Given the description of an element on the screen output the (x, y) to click on. 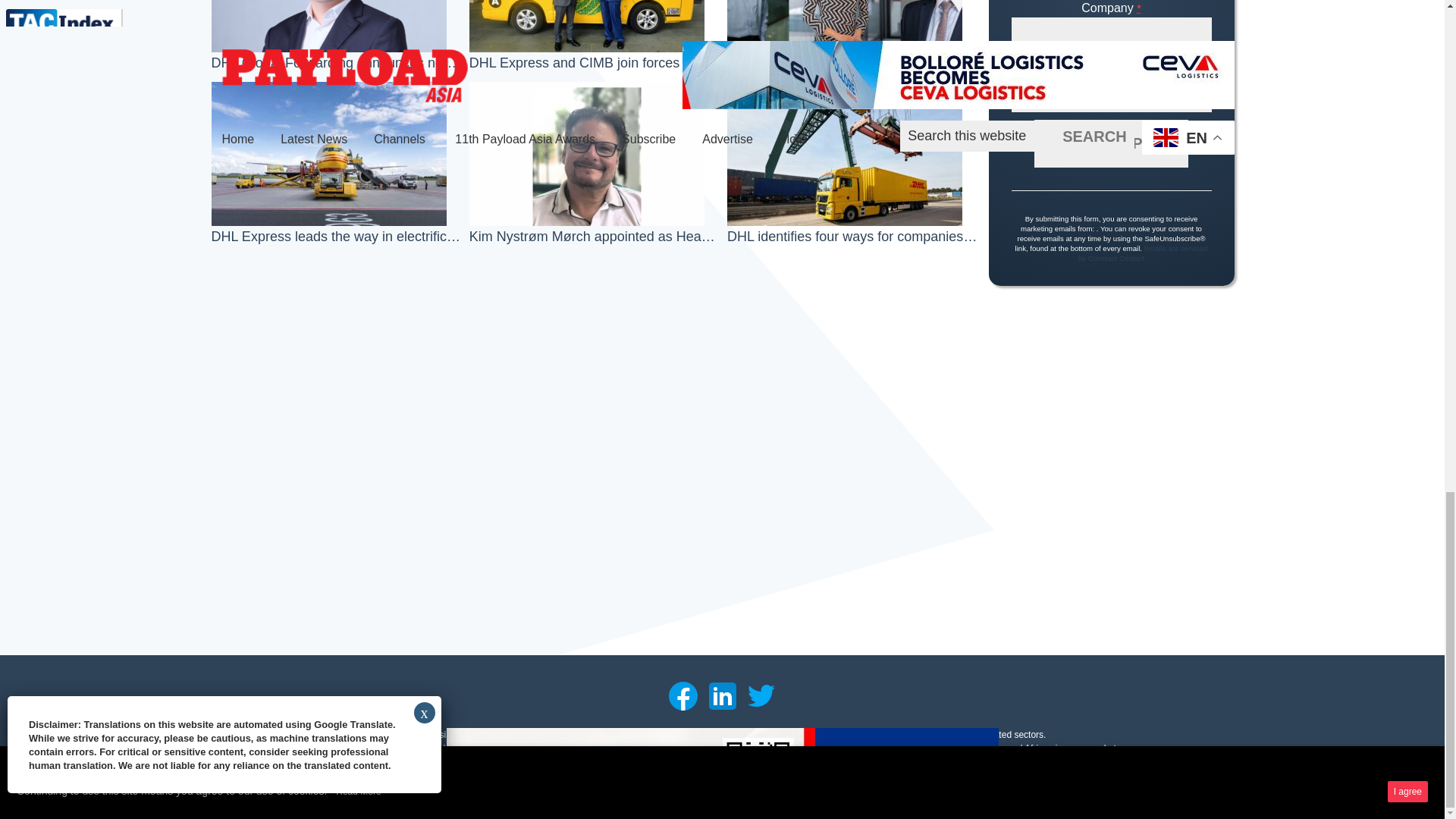
Sign up (1110, 143)
